Given the description of an element on the screen output the (x, y) to click on. 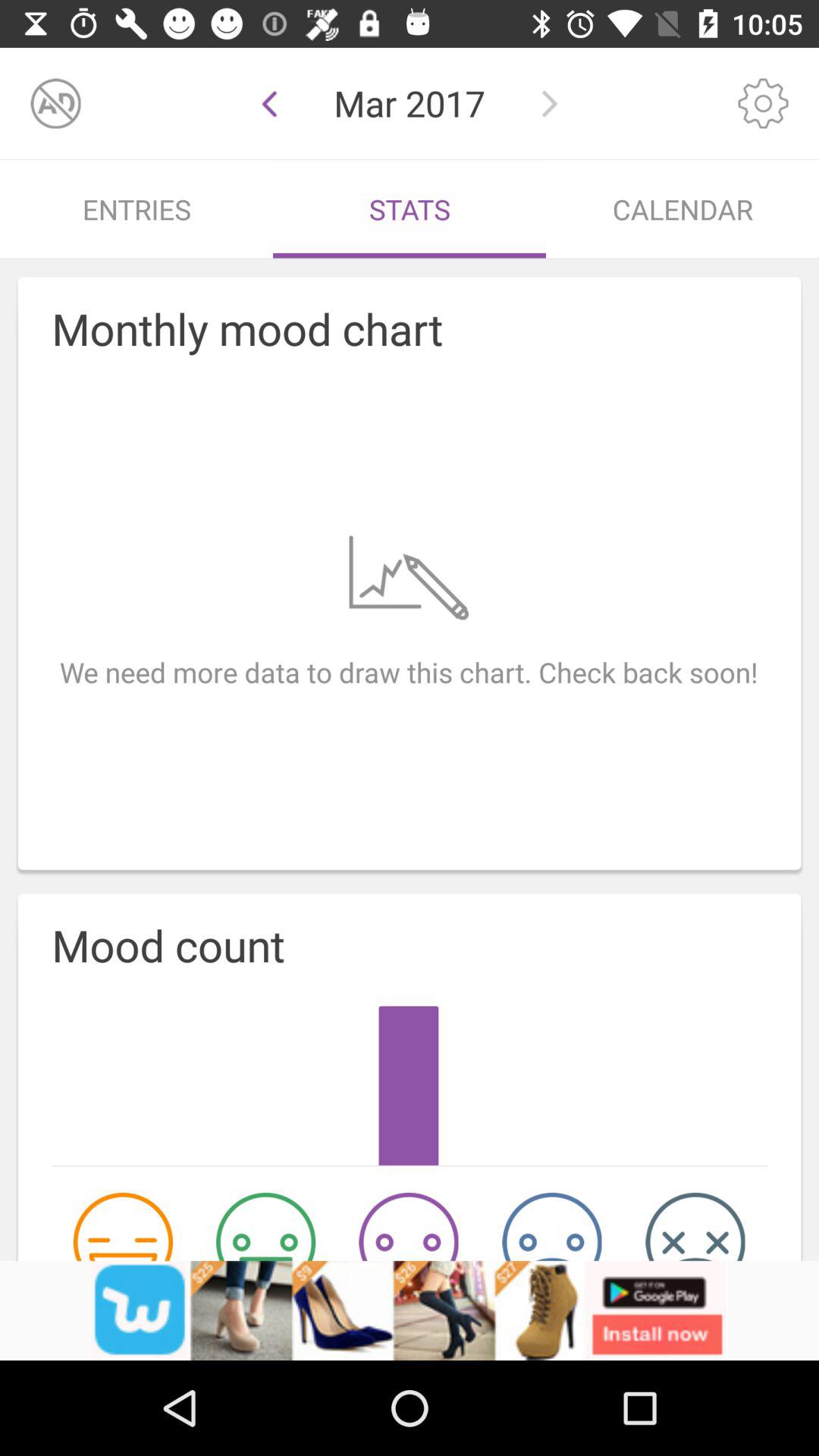
advertisement (409, 1310)
